Given the description of an element on the screen output the (x, y) to click on. 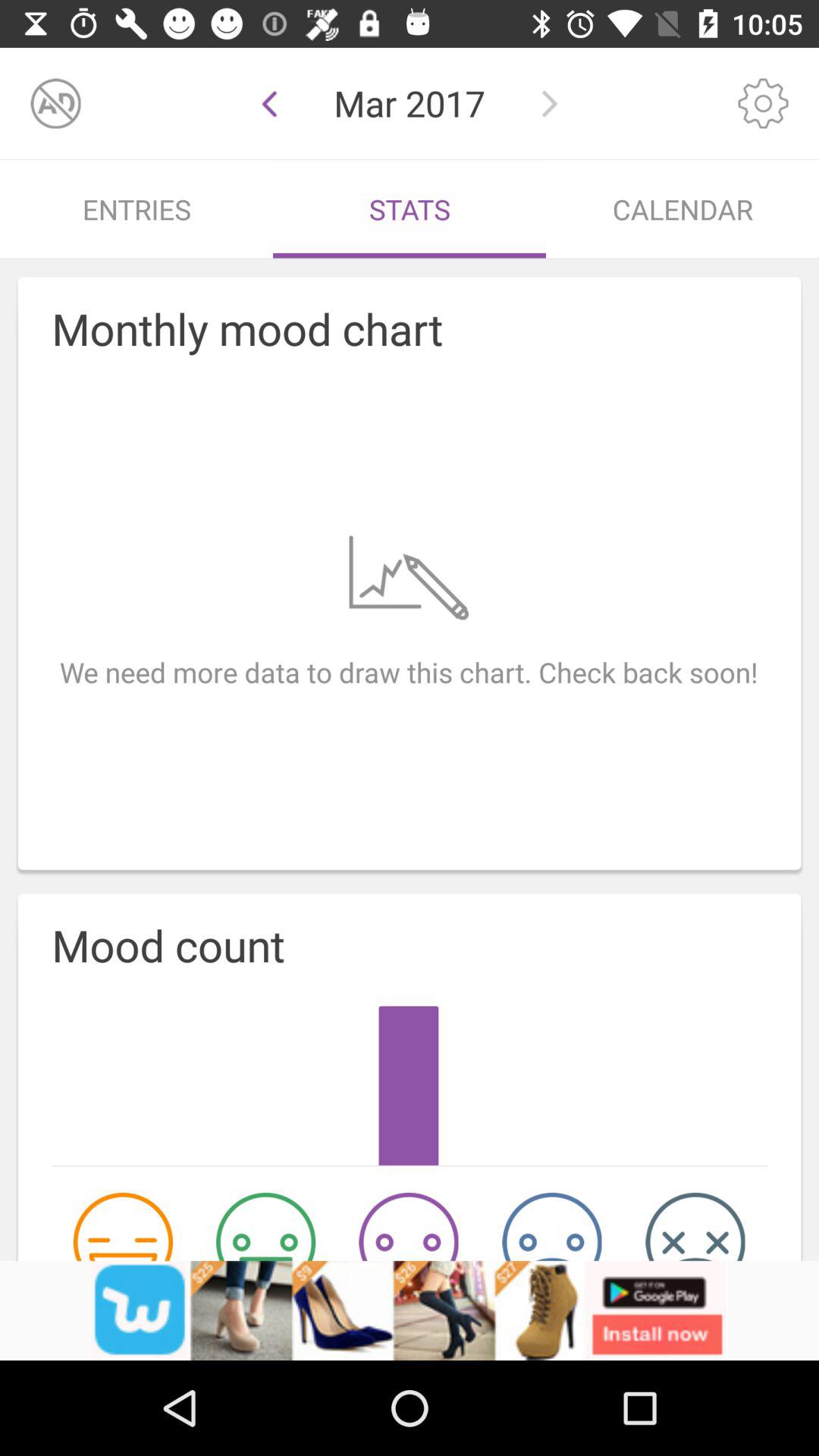
advertisement (409, 1310)
